Given the description of an element on the screen output the (x, y) to click on. 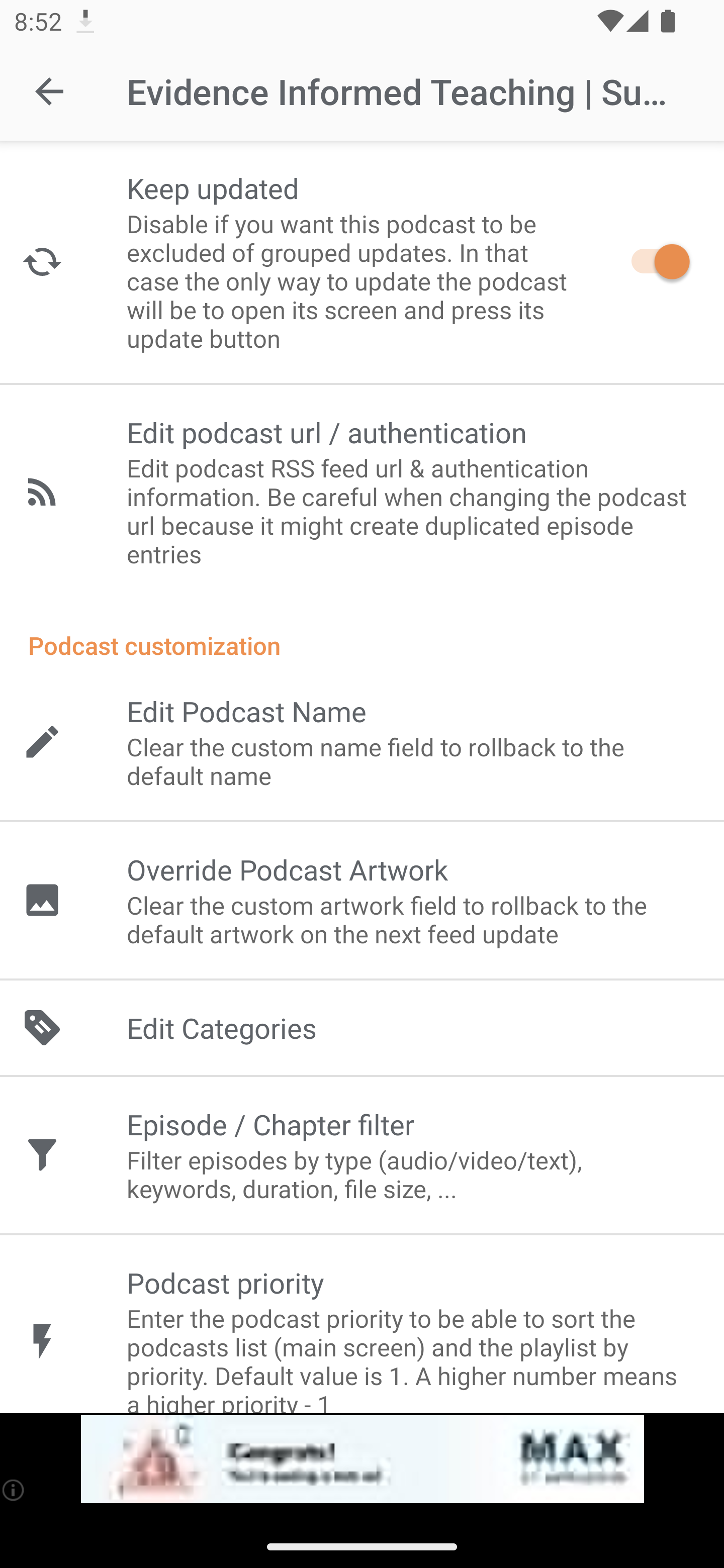
Navigate up (49, 91)
Edit Categories (362, 1027)
app-monetization (362, 1459)
(i) (14, 1489)
